Given the description of an element on the screen output the (x, y) to click on. 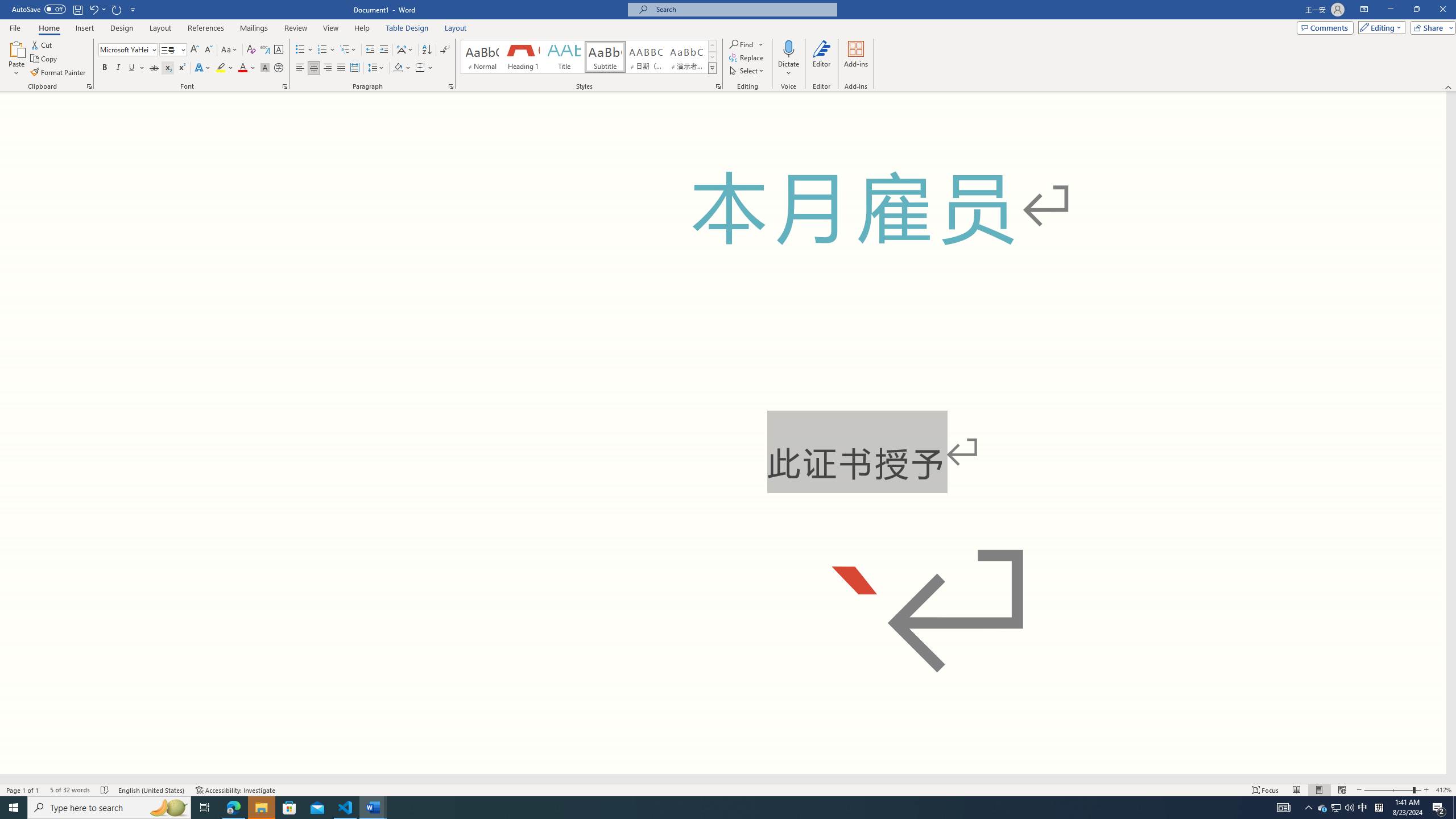
Repeat Subscript (117, 9)
